Given the description of an element on the screen output the (x, y) to click on. 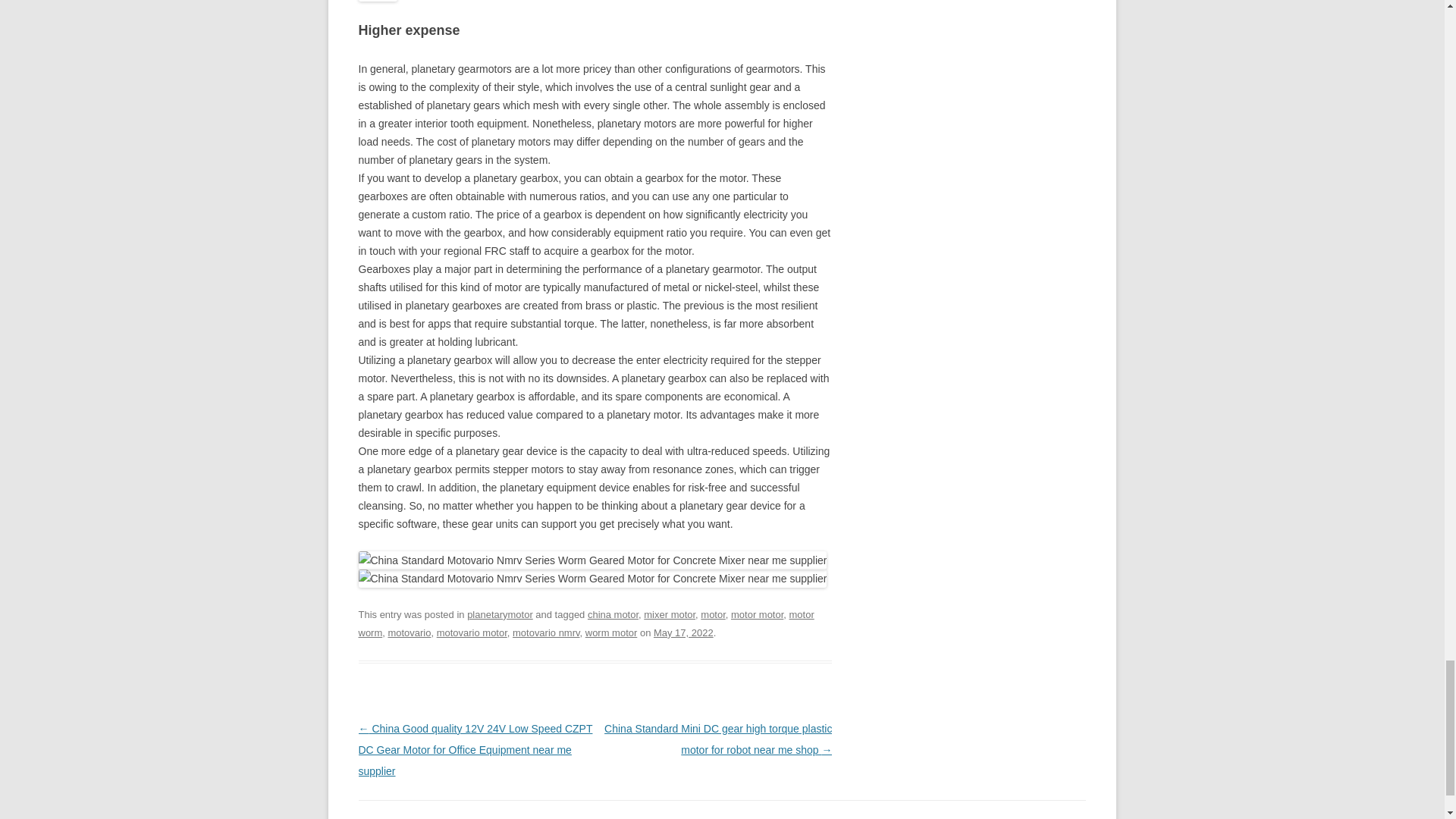
motor worm (585, 623)
motovario motor (471, 632)
9:44 pm (683, 632)
motovario (408, 632)
mixer motor (669, 614)
motor (712, 614)
planetarymotor (499, 614)
motor motor (756, 614)
worm motor (611, 632)
May 17, 2022 (683, 632)
